Given the description of an element on the screen output the (x, y) to click on. 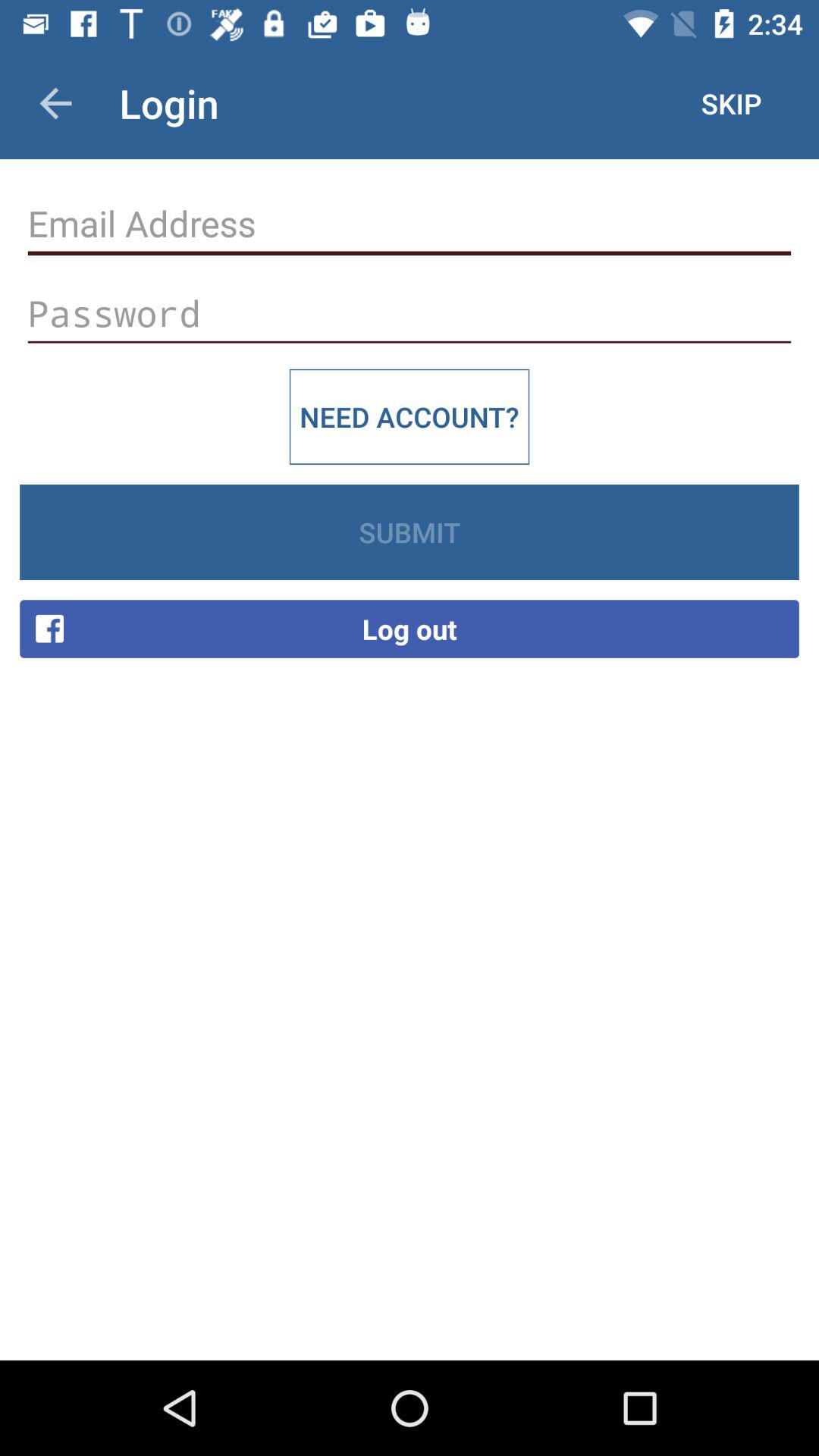
insert password (409, 313)
